Given the description of an element on the screen output the (x, y) to click on. 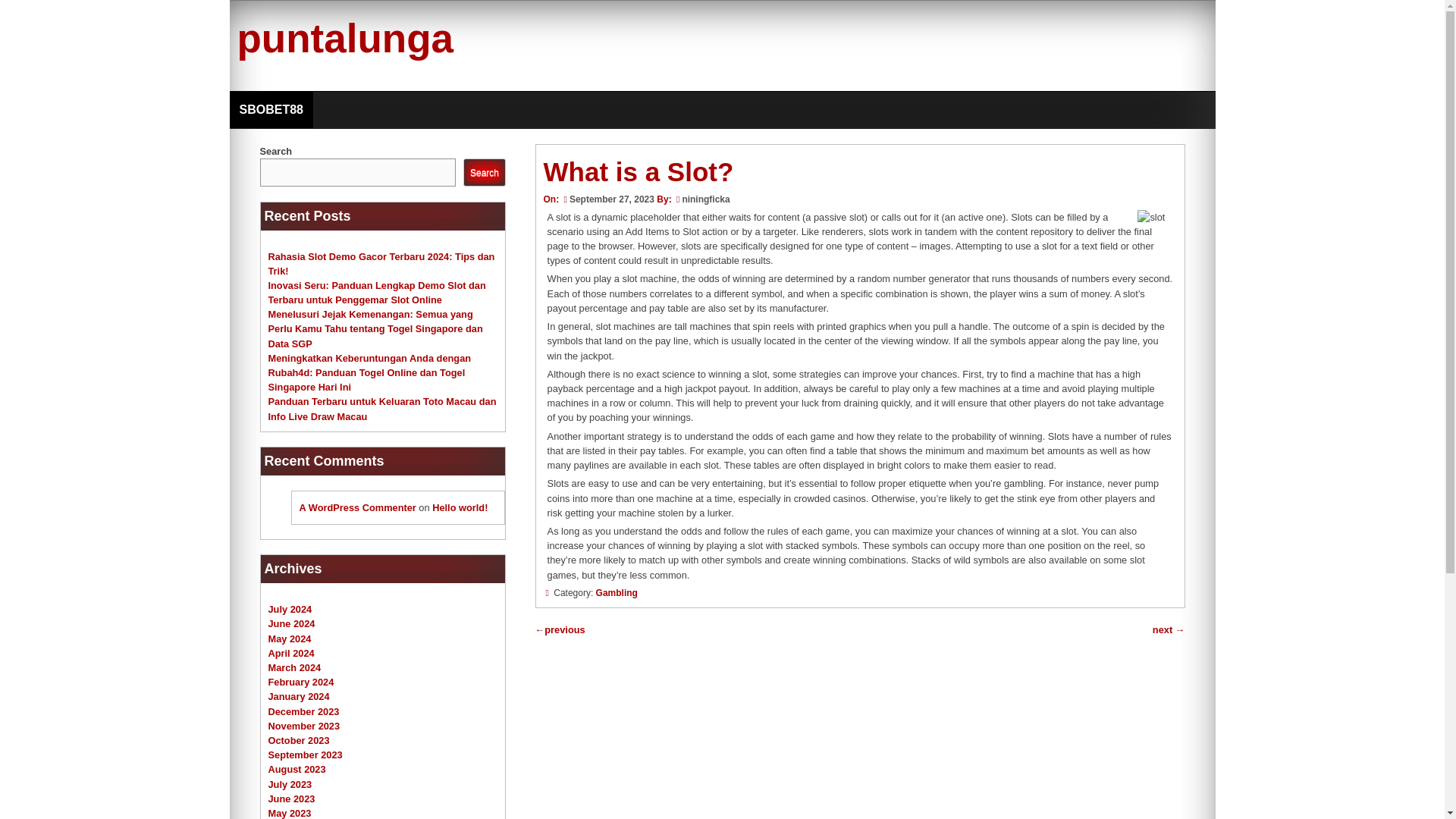
puntalunga (343, 37)
July 2024 (290, 609)
Hello world! (459, 507)
Gambling (616, 593)
January 2024 (298, 696)
September 2023 (304, 754)
July 2023 (290, 784)
December 2023 (303, 711)
June 2024 (291, 623)
May 2023 (289, 813)
November 2023 (303, 726)
April 2024 (290, 653)
February 2024 (300, 681)
